Given the description of an element on the screen output the (x, y) to click on. 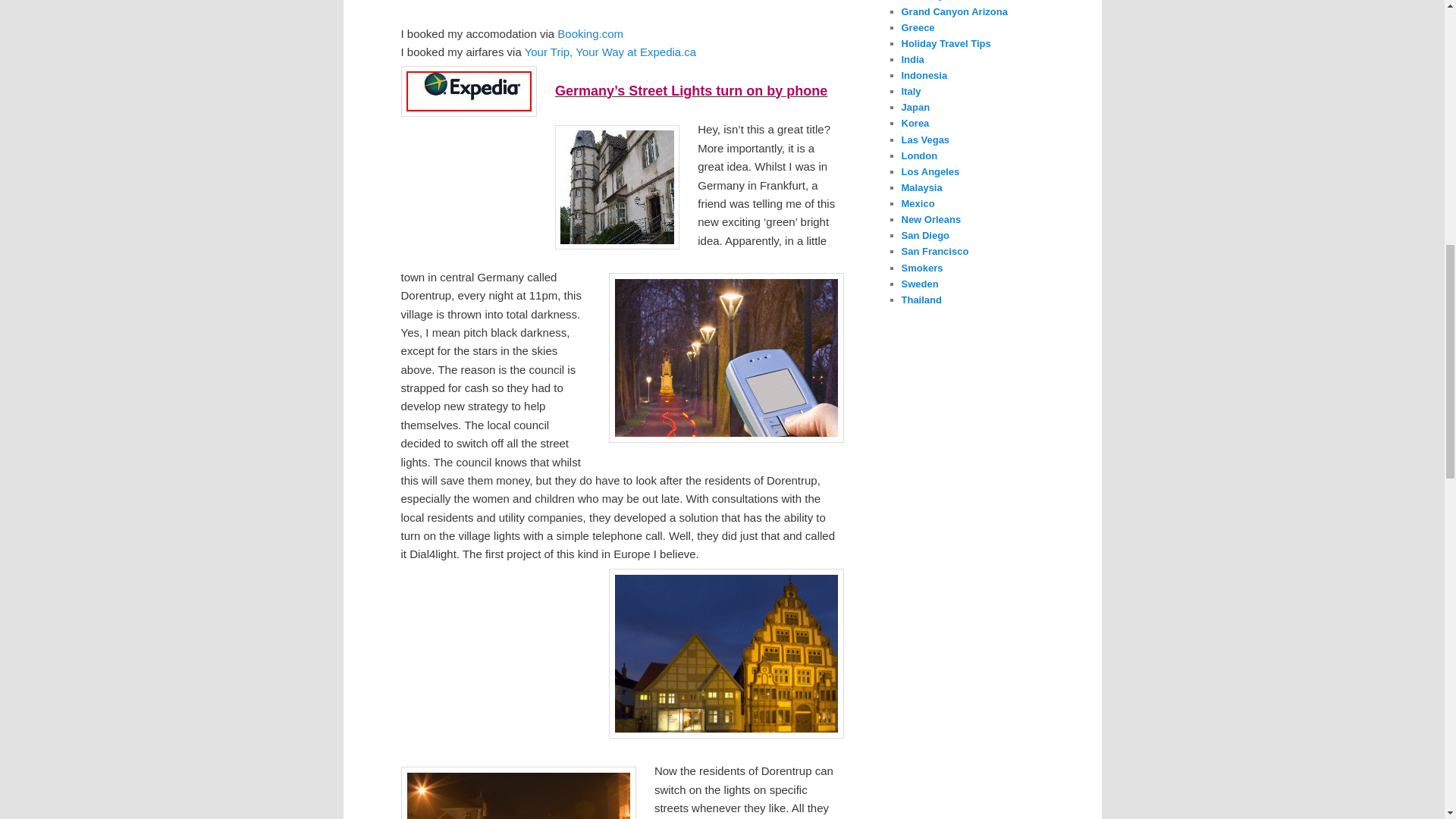
Dial4Lights (725, 357)
Your Trip, Your Way at Expedia.ca (610, 51)
Dorentrup 17th Century Castle and Hotel (616, 187)
Booking.com (590, 33)
Town (725, 653)
